Given the description of an element on the screen output the (x, y) to click on. 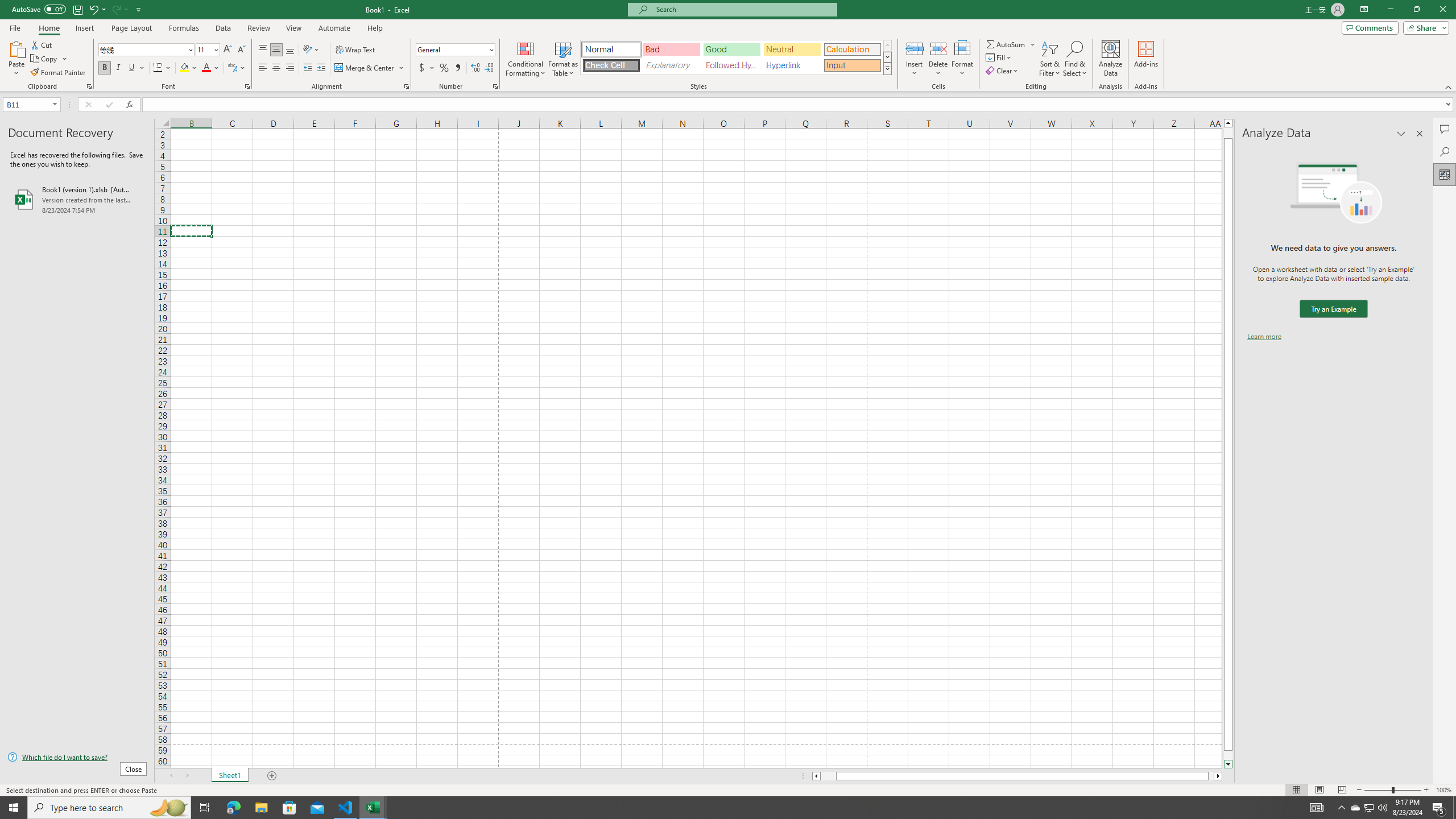
Italic (118, 67)
Font Color RGB(255, 0, 0) (206, 67)
We need data to give you answers. Try an Example (1333, 308)
Insert Cells (914, 48)
Format Cell Font (247, 85)
Check Cell (611, 65)
Wrap Text (355, 49)
AutomationID: CellStylesGallery (736, 57)
